Given the description of an element on the screen output the (x, y) to click on. 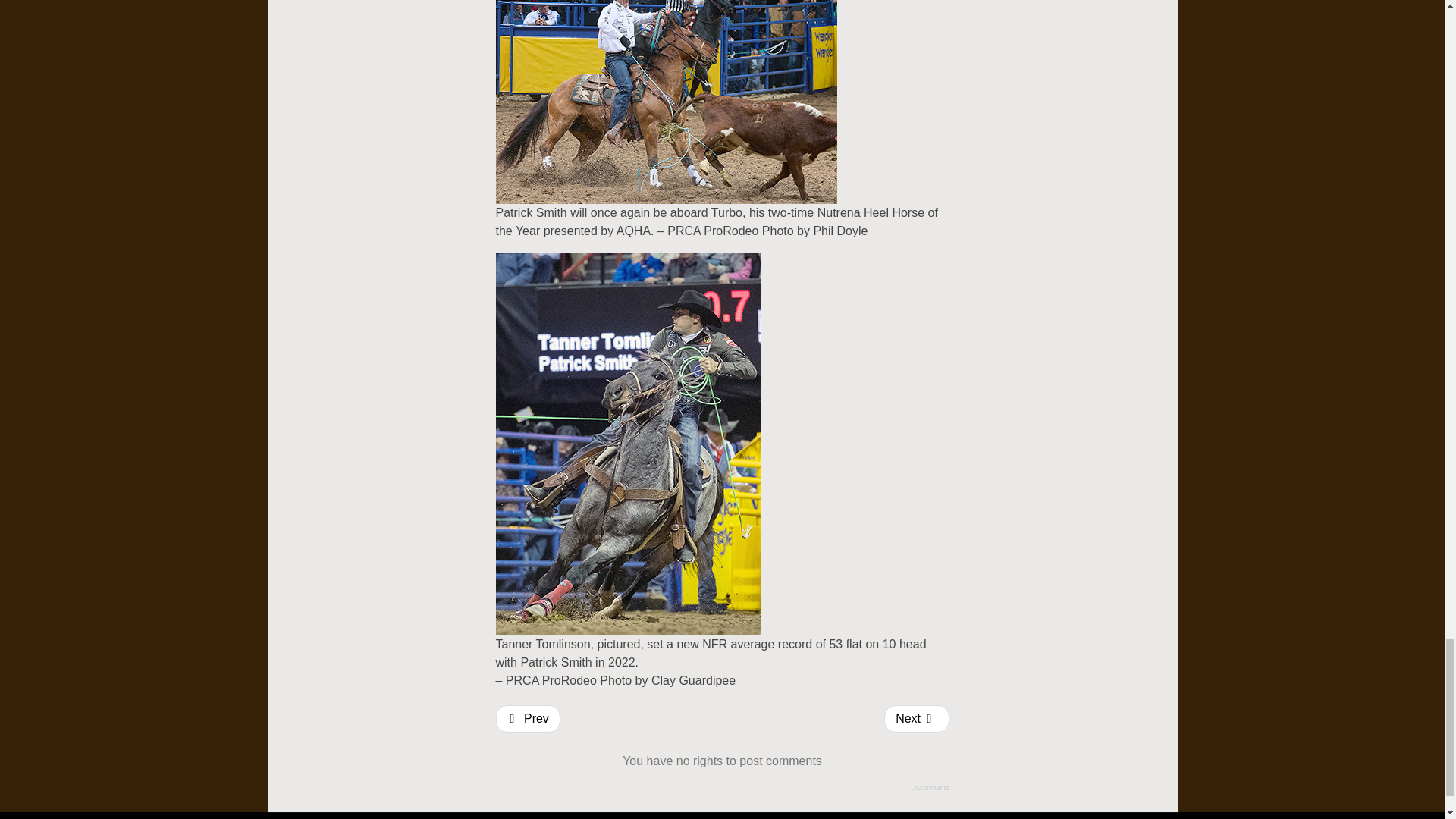
JComments (930, 787)
